Given the description of an element on the screen output the (x, y) to click on. 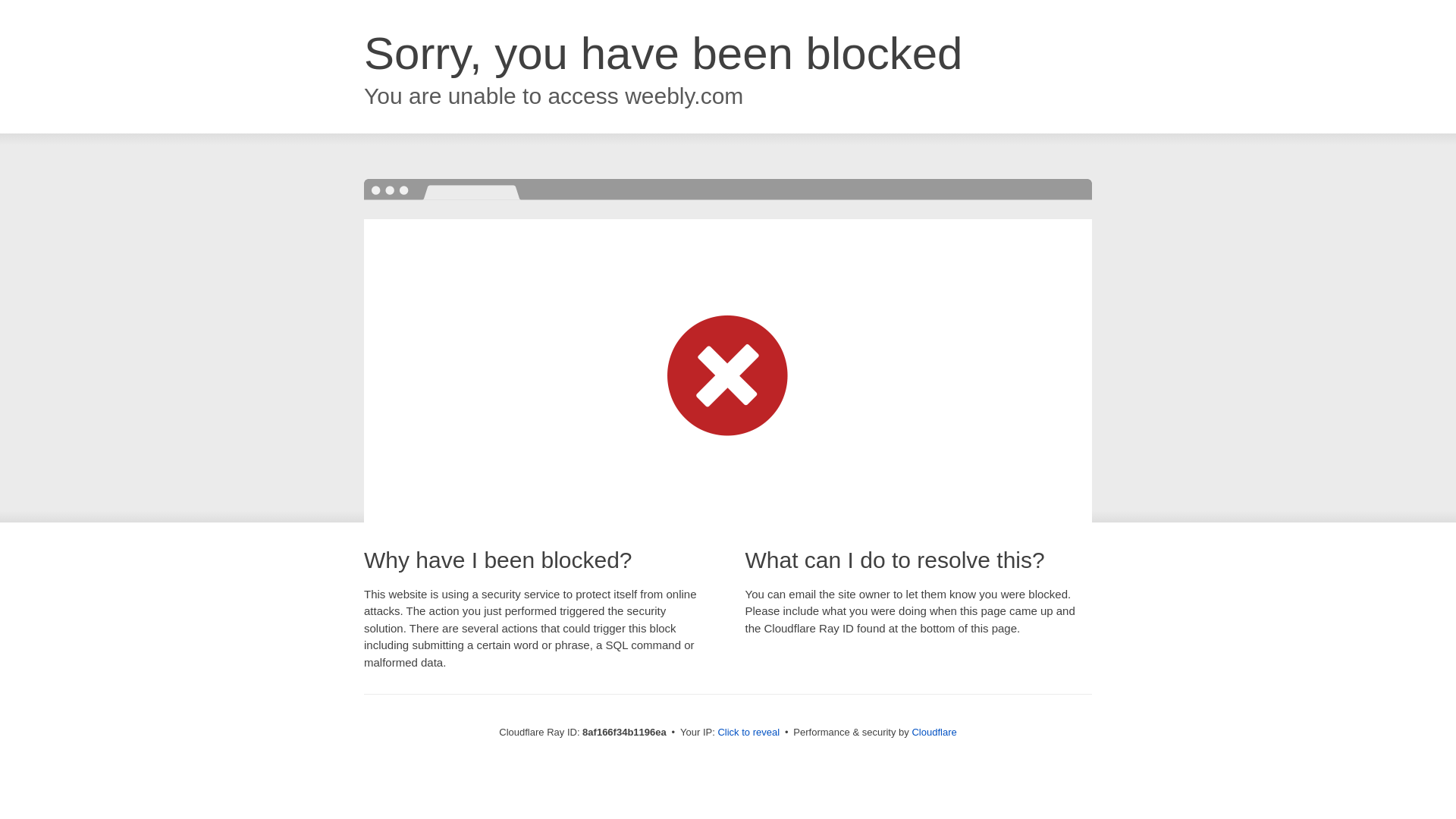
Cloudflare (933, 731)
Click to reveal (747, 732)
